Given the description of an element on the screen output the (x, y) to click on. 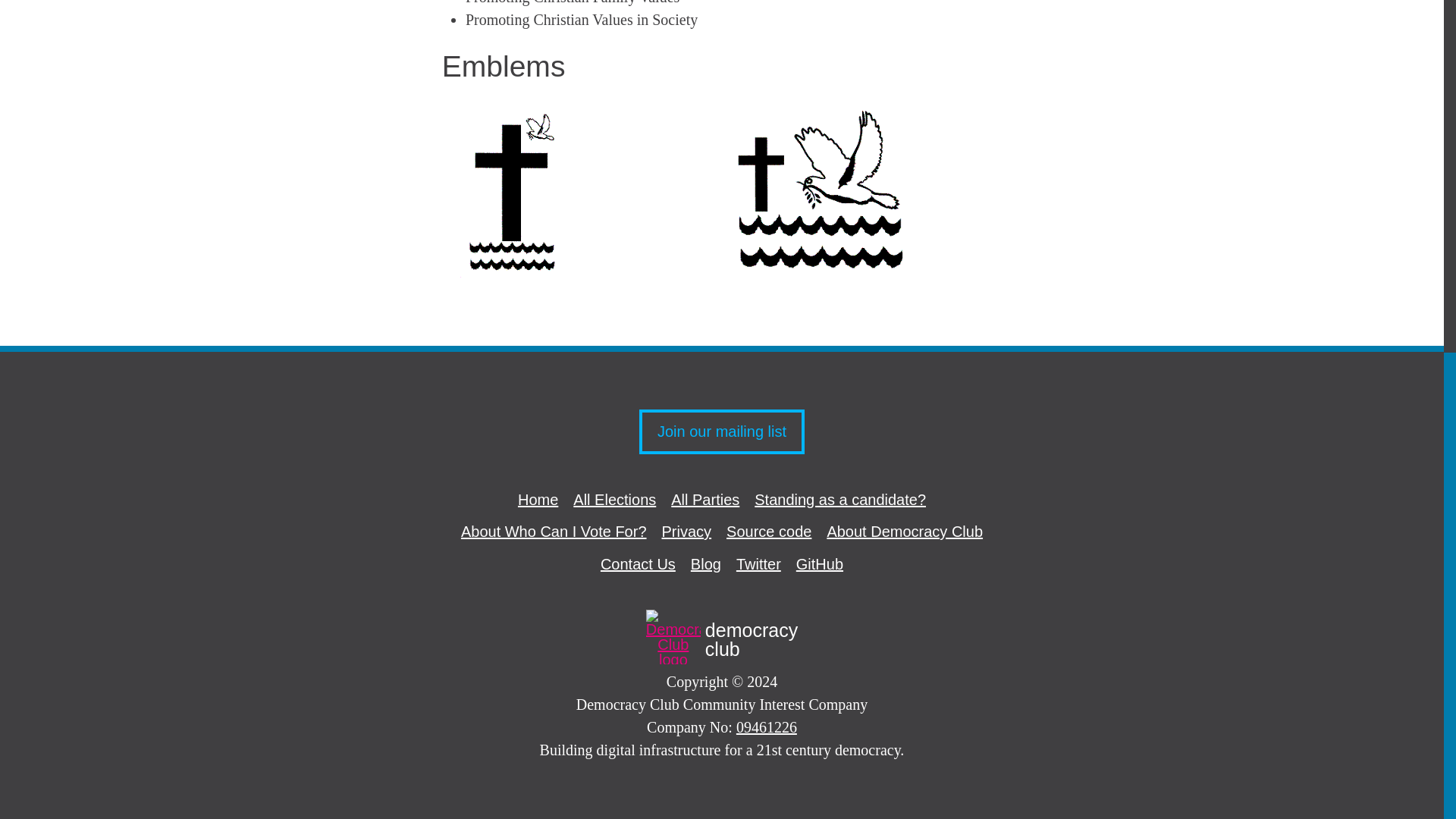
Twitter (758, 564)
About Democracy Club (904, 531)
Standing as a candidate? (721, 639)
Join our mailing list (840, 499)
Contact Us (722, 431)
09461226 (637, 564)
All Elections (766, 727)
Source code (614, 499)
Home (768, 531)
Privacy (537, 499)
Blog (686, 531)
GitHub (705, 564)
All Parties (819, 564)
About Who Can I Vote For? (705, 499)
